Given the description of an element on the screen output the (x, y) to click on. 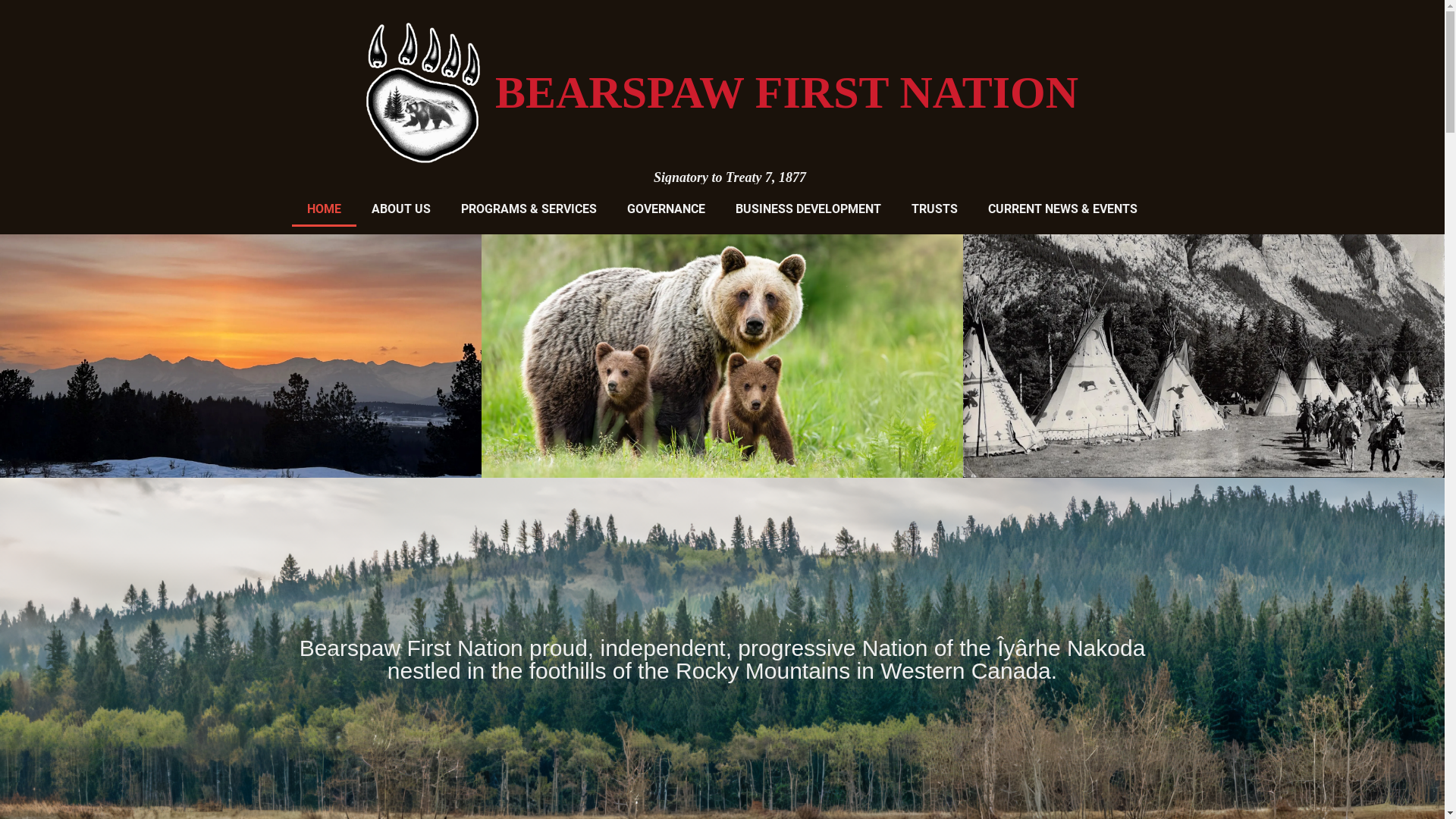
Signatory to Treaty 7, 1877 Element type: text (729, 177)
GOVERNANCE Element type: text (665, 208)
Bearspaw logos-1 Element type: hover (423, 92)
CURRENT NEWS & EVENTS Element type: text (1062, 208)
ABOUT US Element type: text (400, 208)
PROGRAMS & SERVICES Element type: text (528, 208)
TRUSTS Element type: text (934, 208)
BEARSPAW FIRST NATION Element type: text (786, 92)
BUSINESS DEVELOPMENT Element type: text (808, 208)
HOME Element type: text (323, 208)
